Given the description of an element on the screen output the (x, y) to click on. 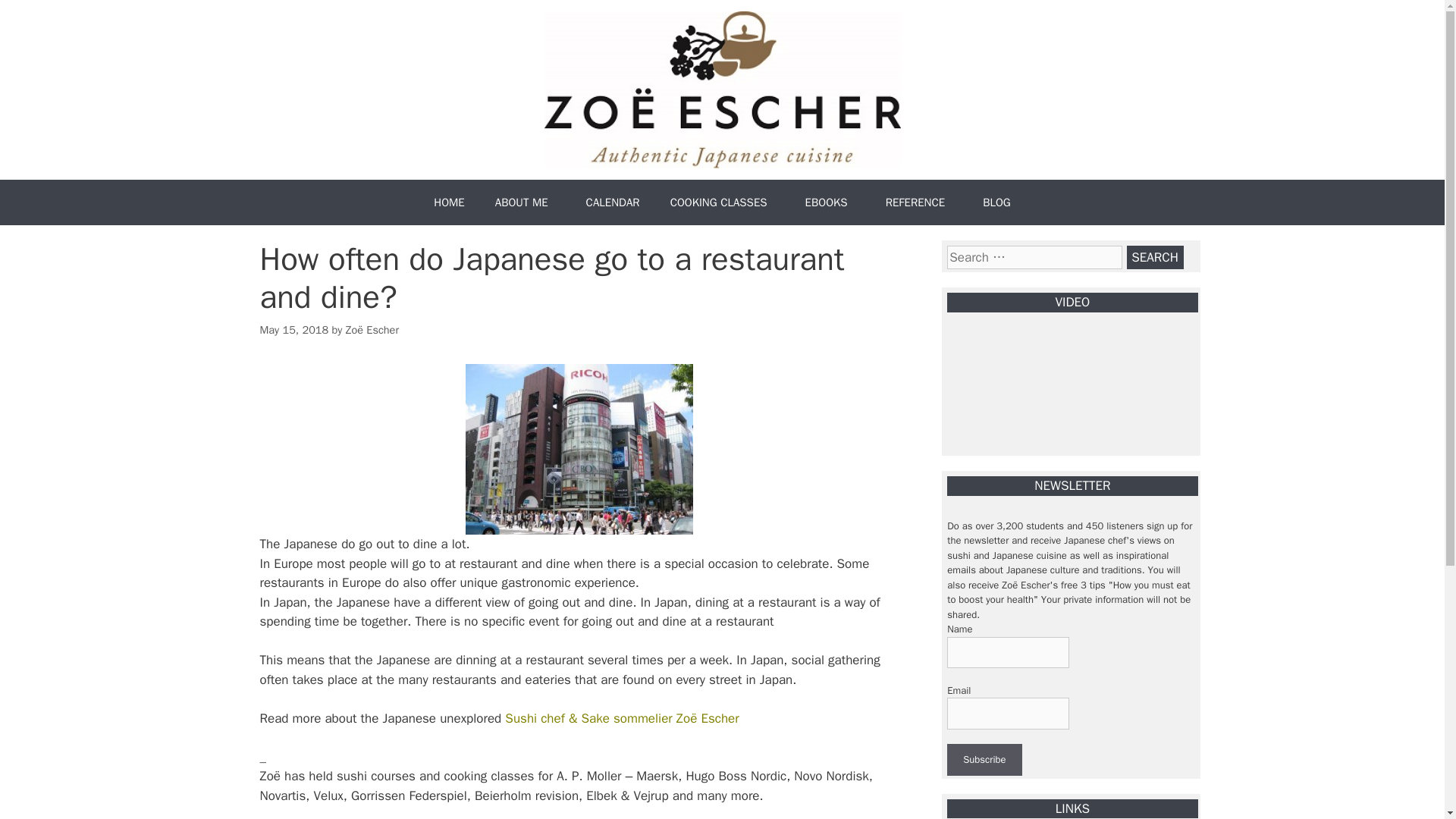
BLOG (997, 202)
COOKING CLASSES (722, 202)
Search (1154, 257)
CALENDAR (612, 202)
EBOOKS (830, 202)
HOME (449, 202)
REFERENCE (919, 202)
ABOUT ME (525, 202)
Search for: (1034, 257)
Search (1154, 257)
